Given the description of an element on the screen output the (x, y) to click on. 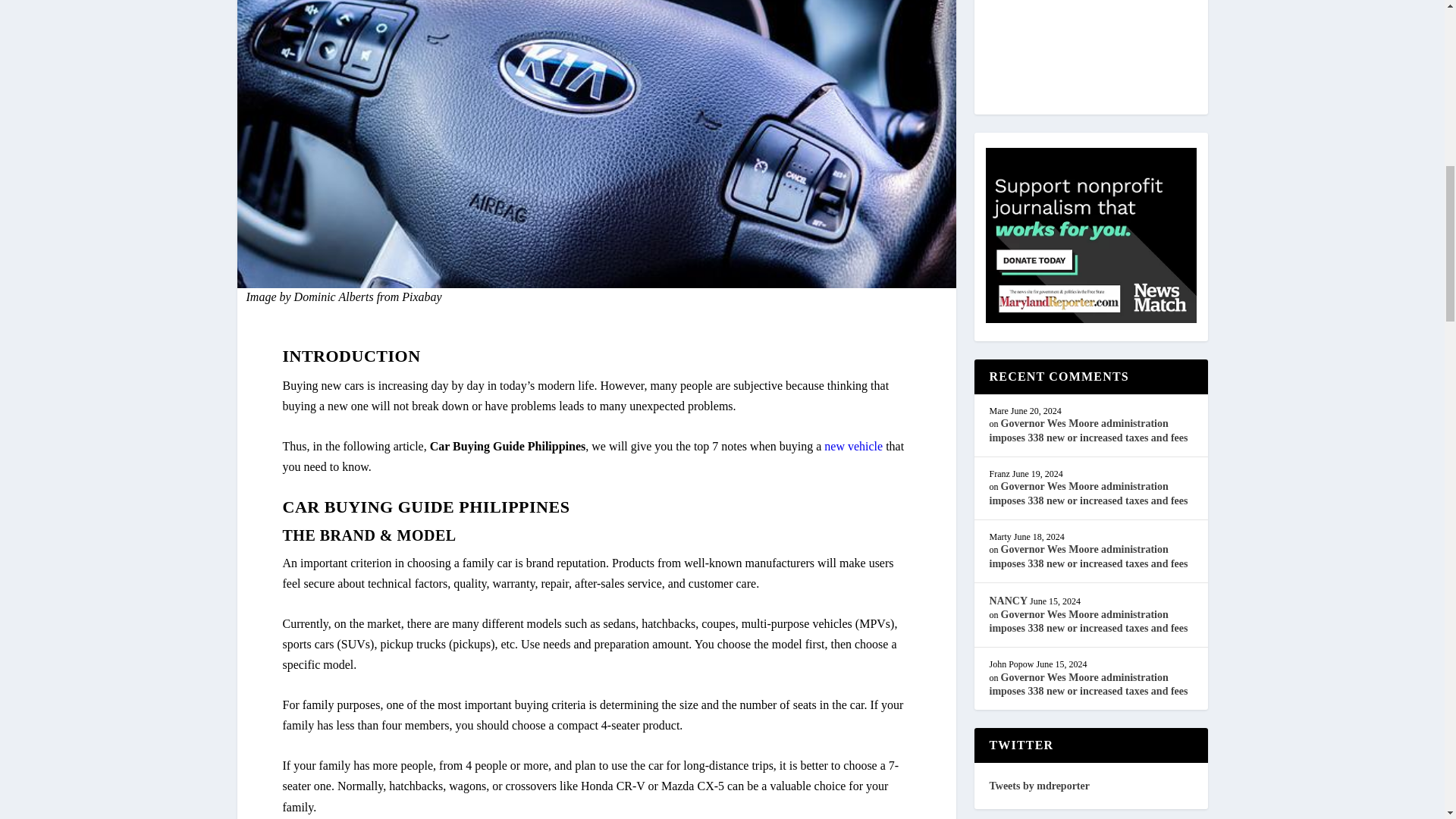
Dominic Alberts (334, 296)
Pixabay (421, 296)
new vehicle (853, 445)
Best price car in the Philippines 2022 (853, 445)
